Given the description of an element on the screen output the (x, y) to click on. 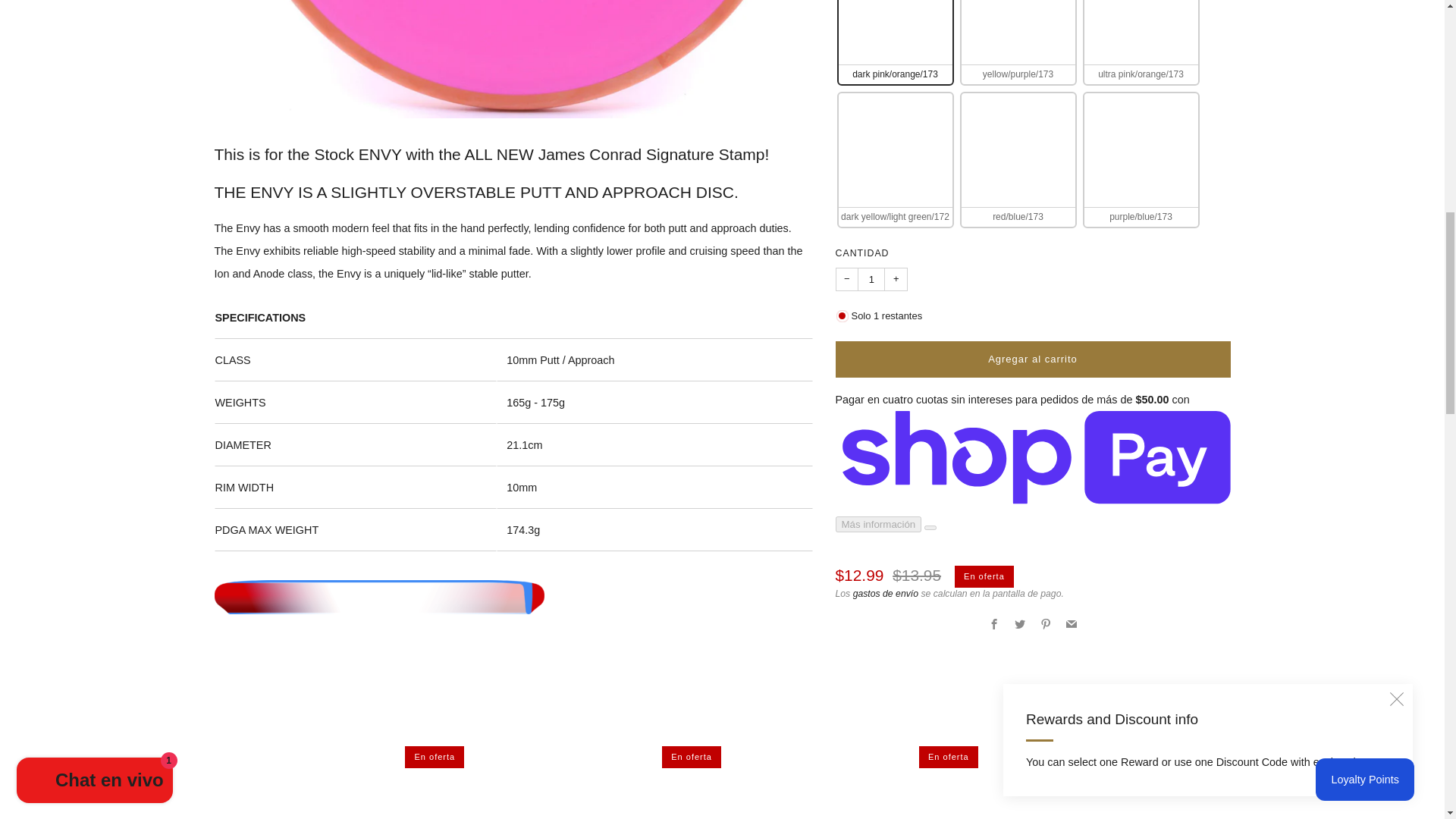
1 (871, 33)
